Given the description of an element on the screen output the (x, y) to click on. 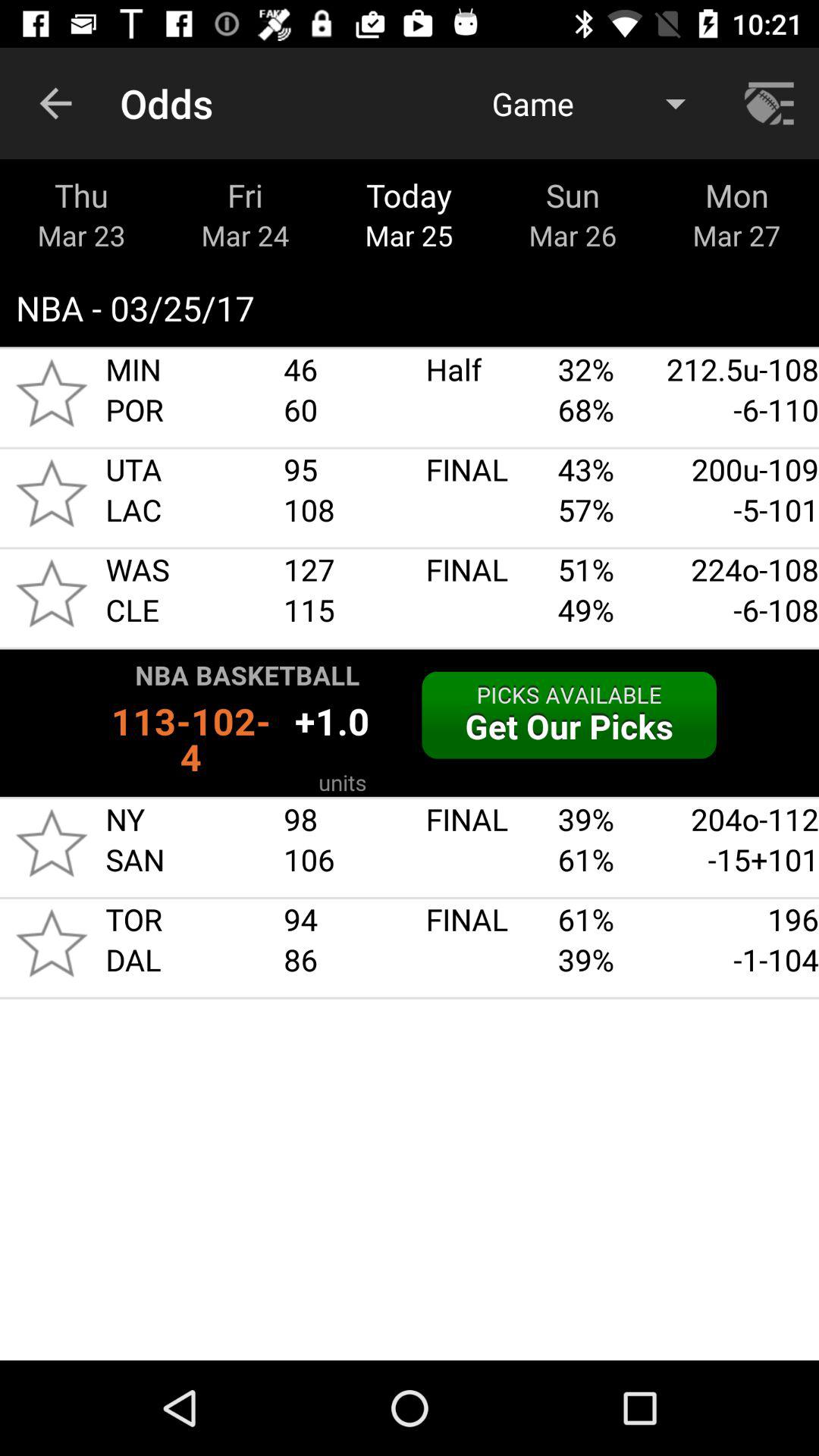
open settings (771, 103)
